Given the description of an element on the screen output the (x, y) to click on. 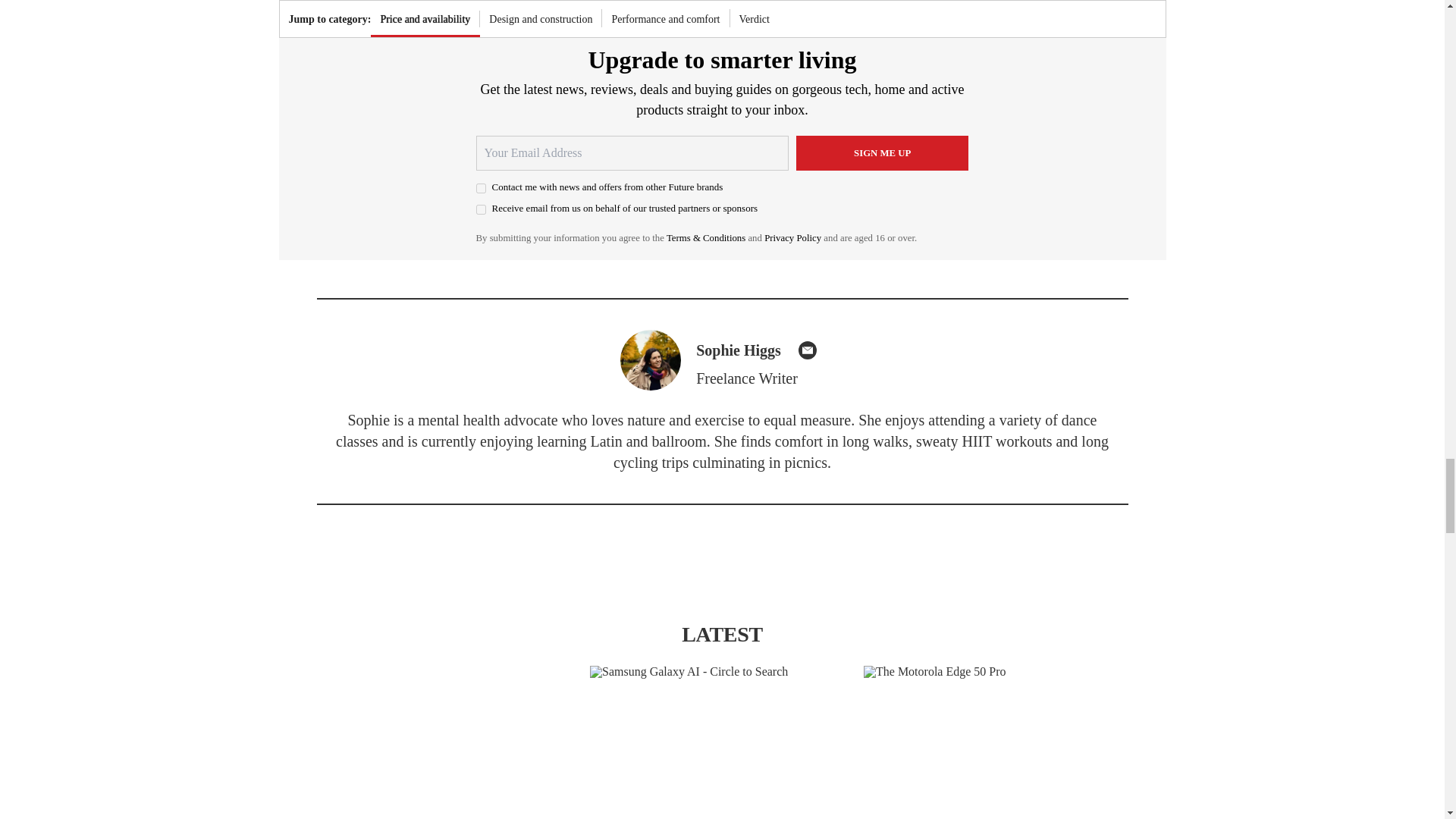
Sign me up (882, 152)
on (481, 188)
on (481, 209)
